Given the description of an element on the screen output the (x, y) to click on. 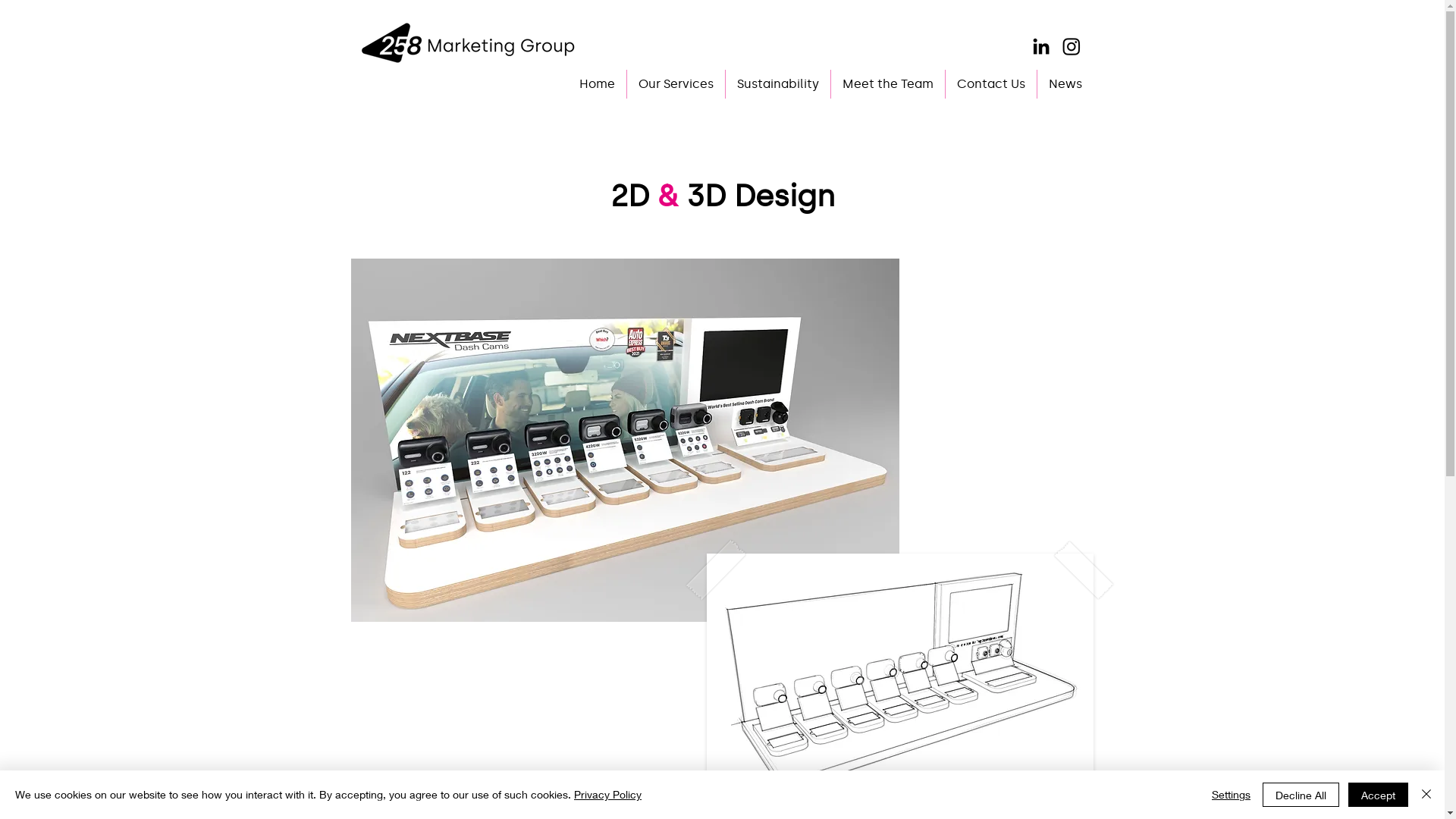
Meet the Team Element type: text (887, 83)
Our Services Element type: text (675, 83)
News Element type: text (1065, 83)
Sustainability Element type: text (776, 83)
Home Element type: text (596, 83)
Accept Element type: text (1378, 794)
Contact Us Element type: text (989, 83)
Privacy Policy Element type: text (607, 793)
Decline All Element type: text (1300, 794)
